Given the description of an element on the screen output the (x, y) to click on. 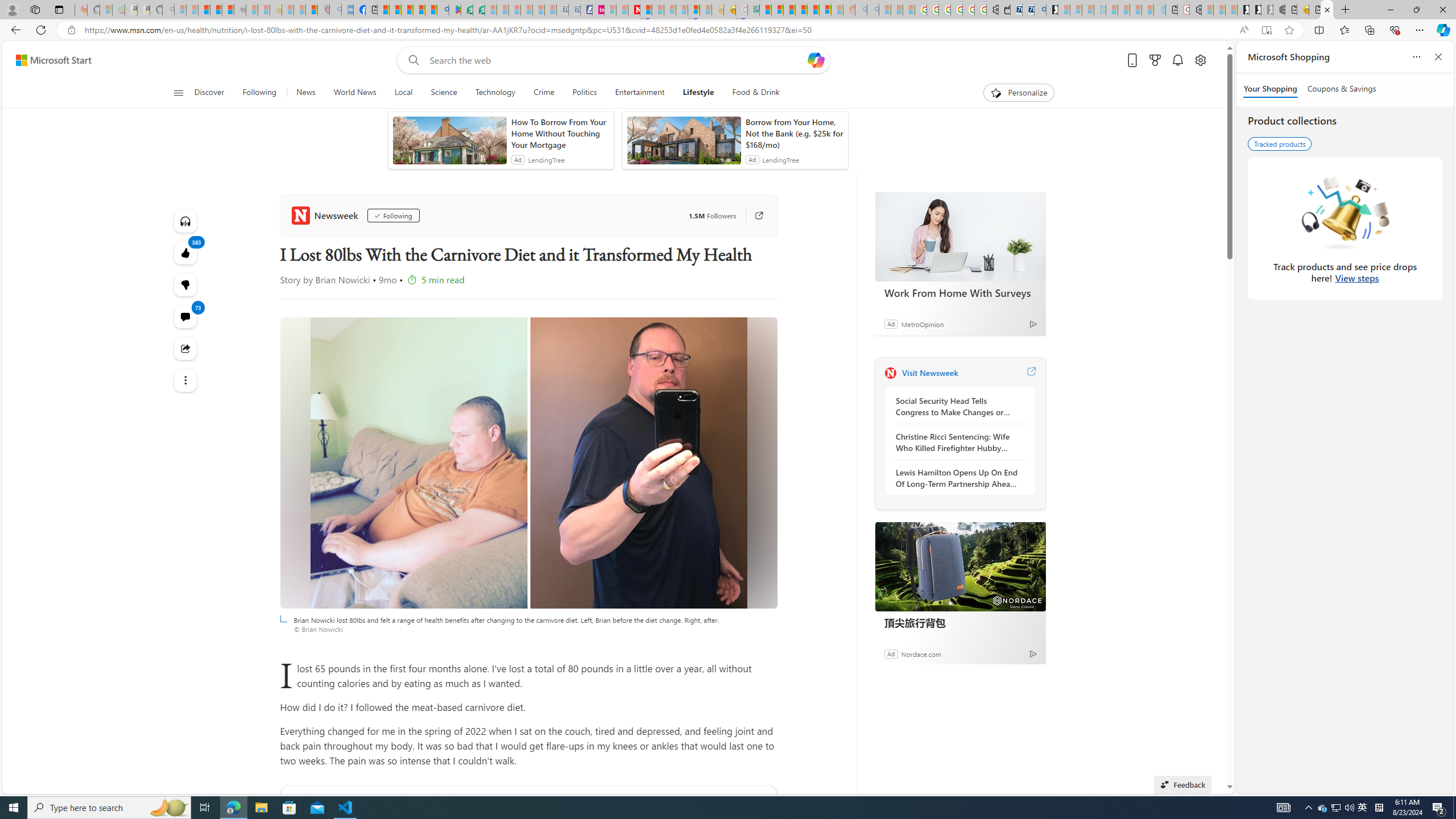
Visit Newsweek website (1031, 372)
LendingTree (780, 159)
Jobs - lastminute.com Investor Portal (598, 9)
News (305, 92)
Microsoft Start (406, 9)
Newsweek (326, 215)
MSNBC - MSN (765, 9)
Offline games - Android Apps on Google Play (454, 9)
Feedback (1182, 784)
Recipes - MSN - Sleeping (287, 9)
383 (184, 284)
